Given the description of an element on the screen output the (x, y) to click on. 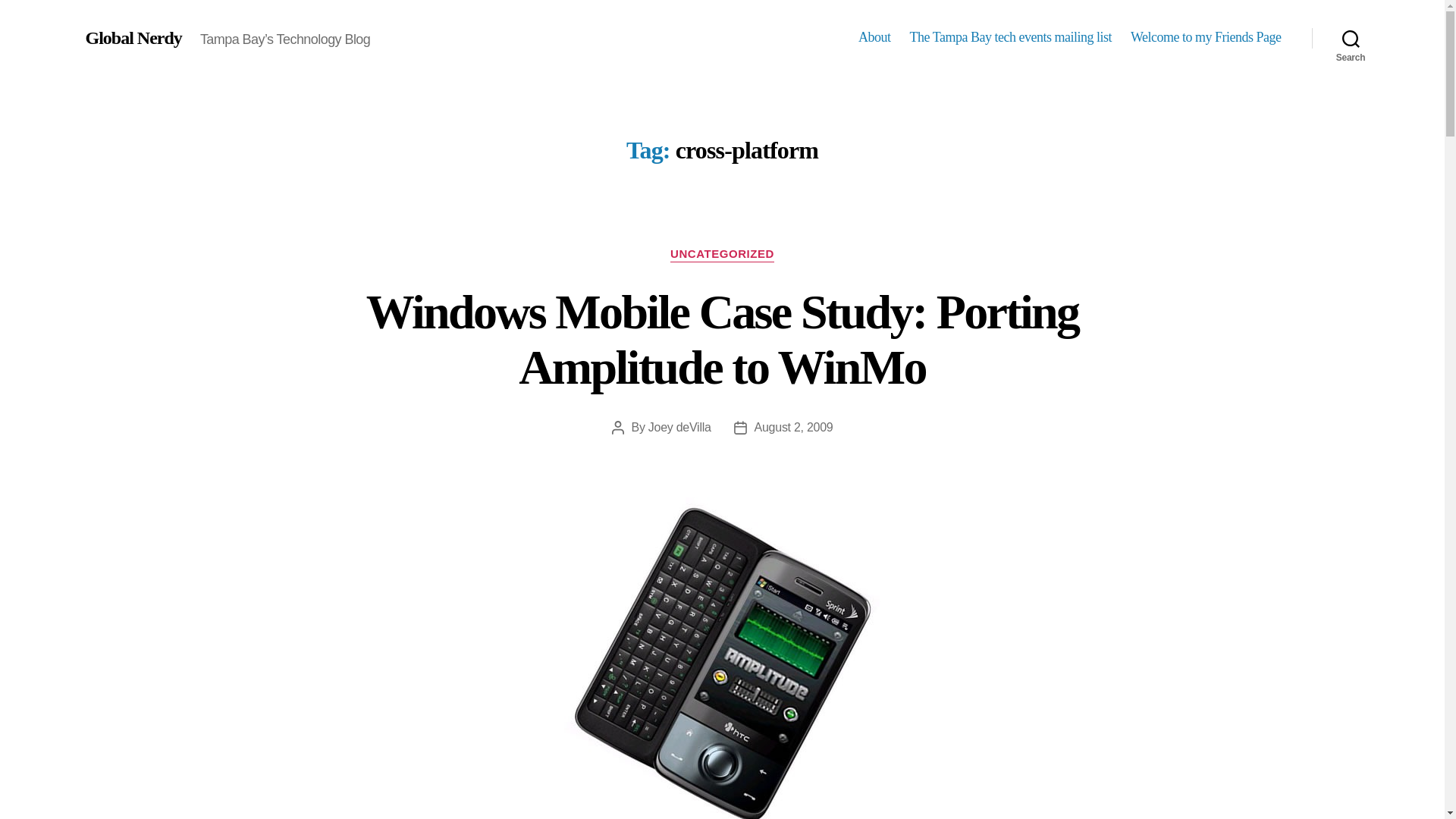
Global Nerdy (132, 37)
Search (1350, 37)
UNCATEGORIZED (721, 254)
Windows Mobile Case Study: Porting Amplitude to WinMo (722, 339)
Welcome to my Friends Page (1206, 37)
The Tampa Bay tech events mailing list (1011, 37)
Joey deVilla (679, 427)
August 2, 2009 (793, 427)
About (875, 37)
